Given the description of an element on the screen output the (x, y) to click on. 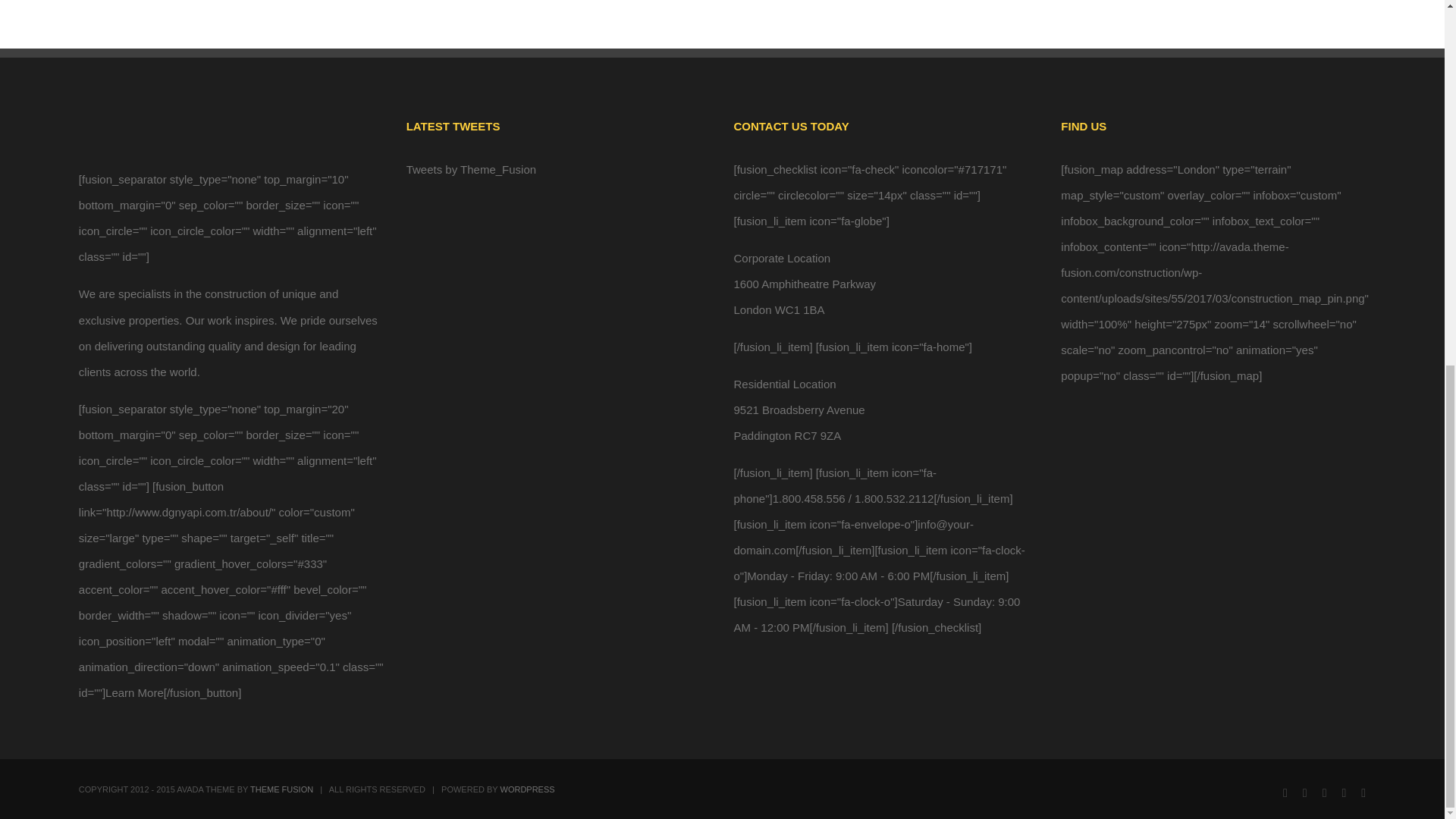
WORDPRESS (527, 788)
THEME FUSION (281, 788)
